Given the description of an element on the screen output the (x, y) to click on. 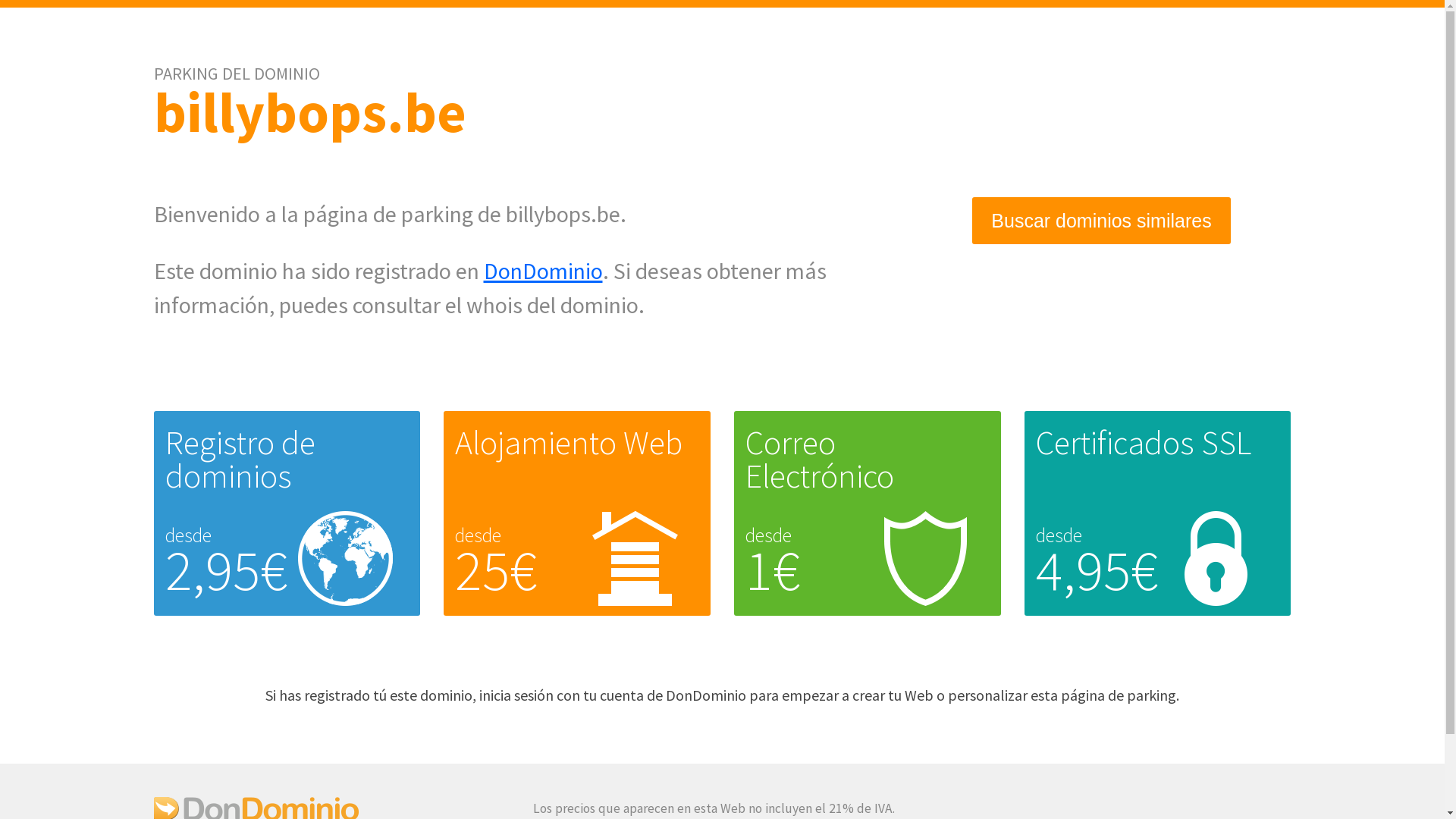
Registro de dominios Element type: text (240, 458)
DonDominio Element type: text (542, 270)
Alojamiento Web Element type: text (568, 442)
Certificados SSL Element type: text (1143, 442)
Buscar dominios similares Element type: text (1101, 220)
